Given the description of an element on the screen output the (x, y) to click on. 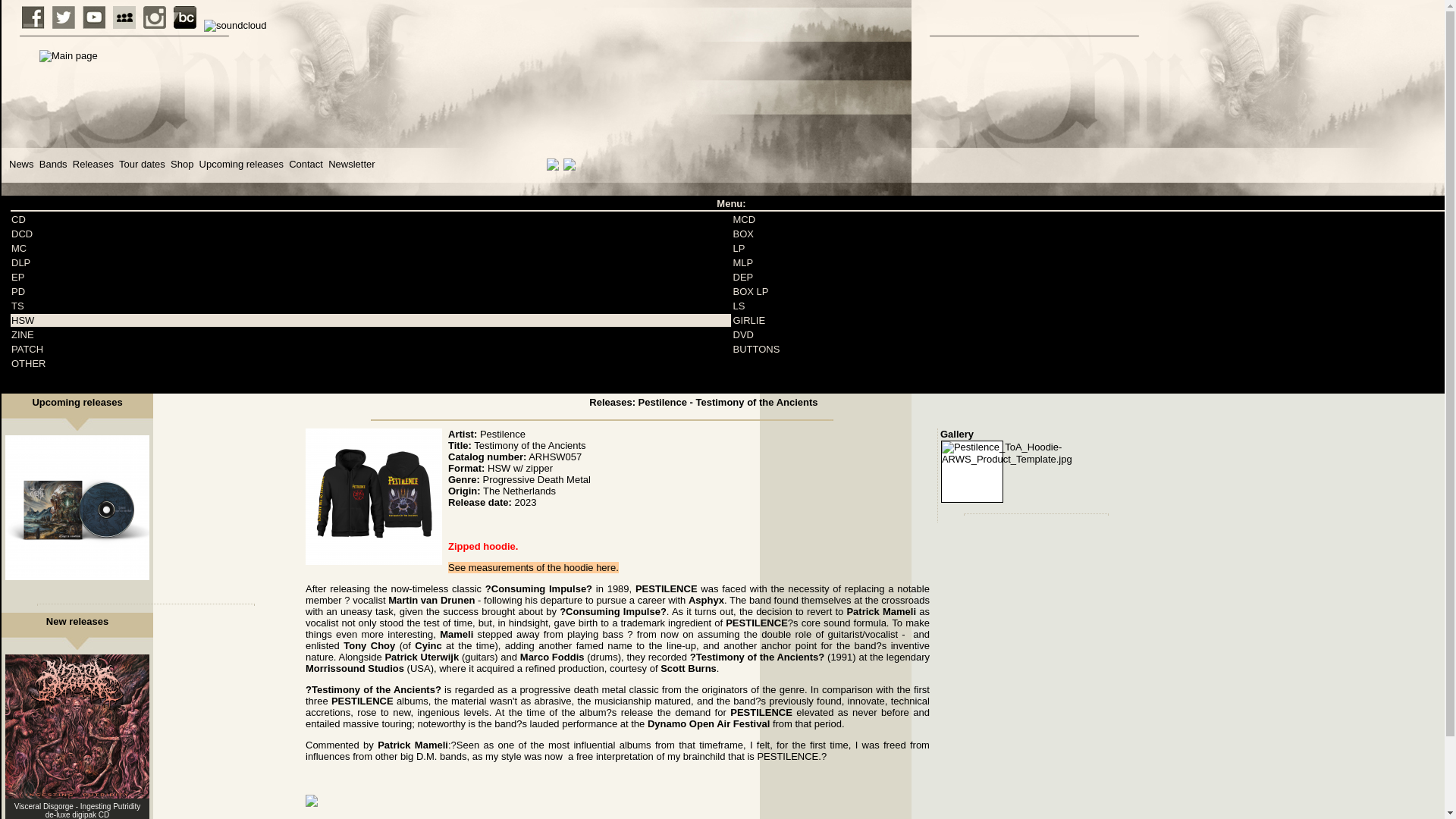
instagram (153, 16)
Releases (92, 163)
News (20, 163)
DVD (742, 334)
Newsletter (351, 163)
BUTTONS (755, 348)
Shop (181, 163)
DCD (21, 233)
Bands (52, 163)
Contact (305, 163)
twitter (63, 16)
MLP (742, 262)
Upcoming releases (241, 163)
bandcamp (184, 16)
CD (18, 219)
